Given the description of an element on the screen output the (x, y) to click on. 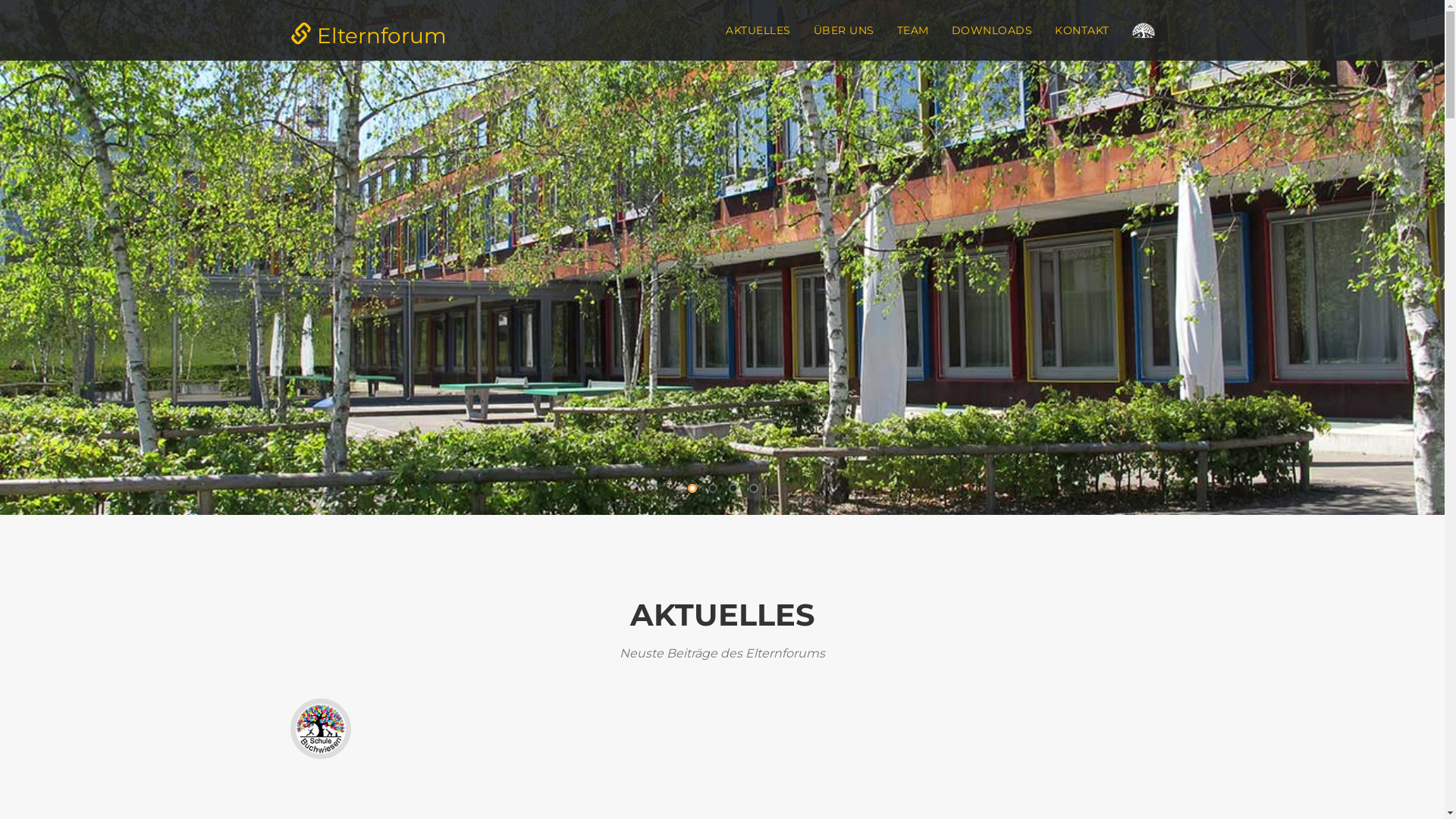
TEAM Element type: text (912, 30)
DOWNLOADS Element type: text (992, 30)
AKTUELLES Element type: text (758, 30)
KONTAKT Element type: text (1081, 30)
Elternforum Element type: text (368, 26)
